Given the description of an element on the screen output the (x, y) to click on. 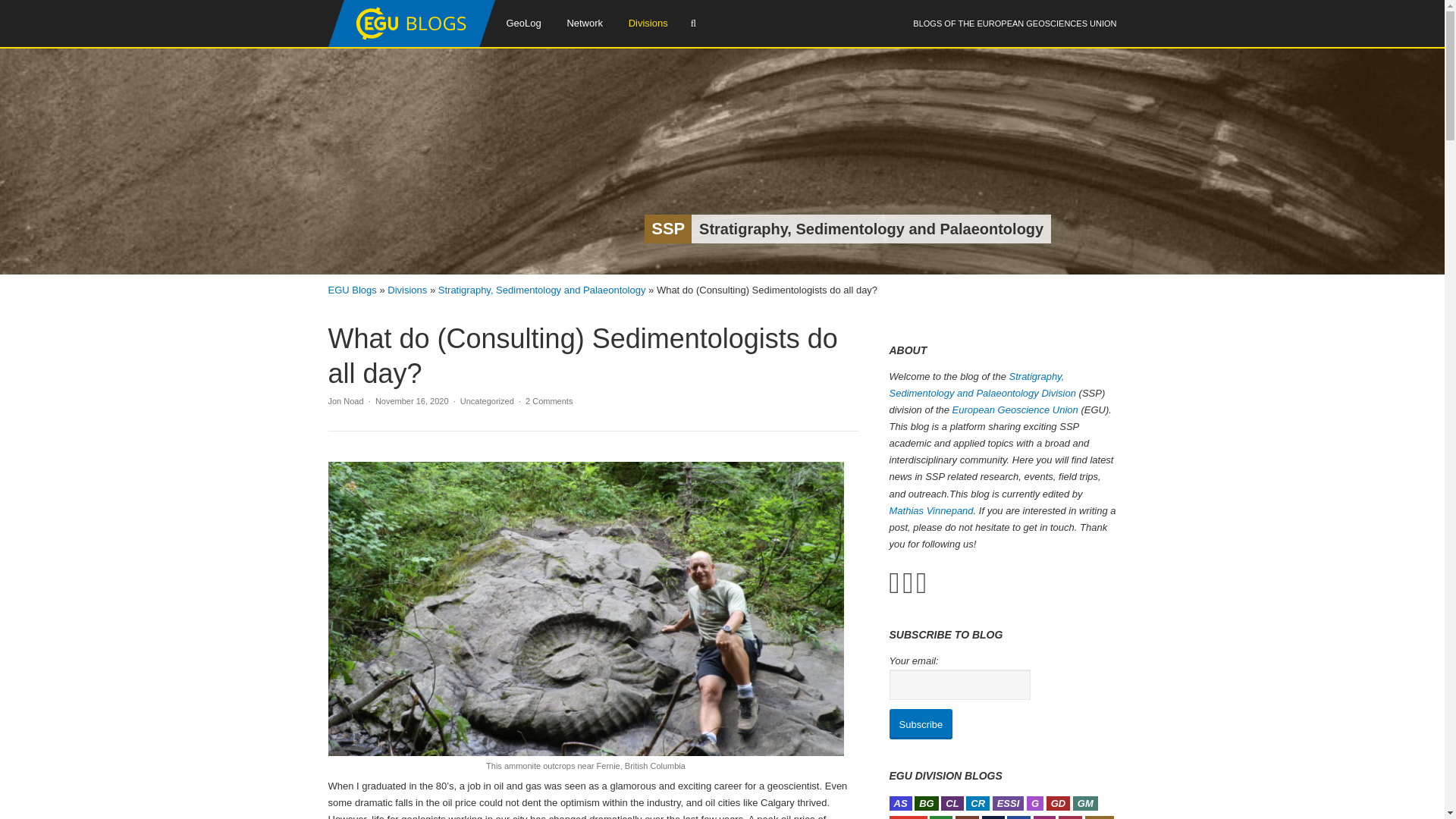
EUROPEAN GEOSCIENCES UNION (1046, 22)
Network (584, 22)
Atmospheric Sciences (899, 803)
Posts by Jon Noad (344, 400)
Biogeosciences (926, 803)
Divisions (648, 22)
GeoLog (523, 22)
EGU Blogs (411, 43)
Subscribe (920, 724)
